Given the description of an element on the screen output the (x, y) to click on. 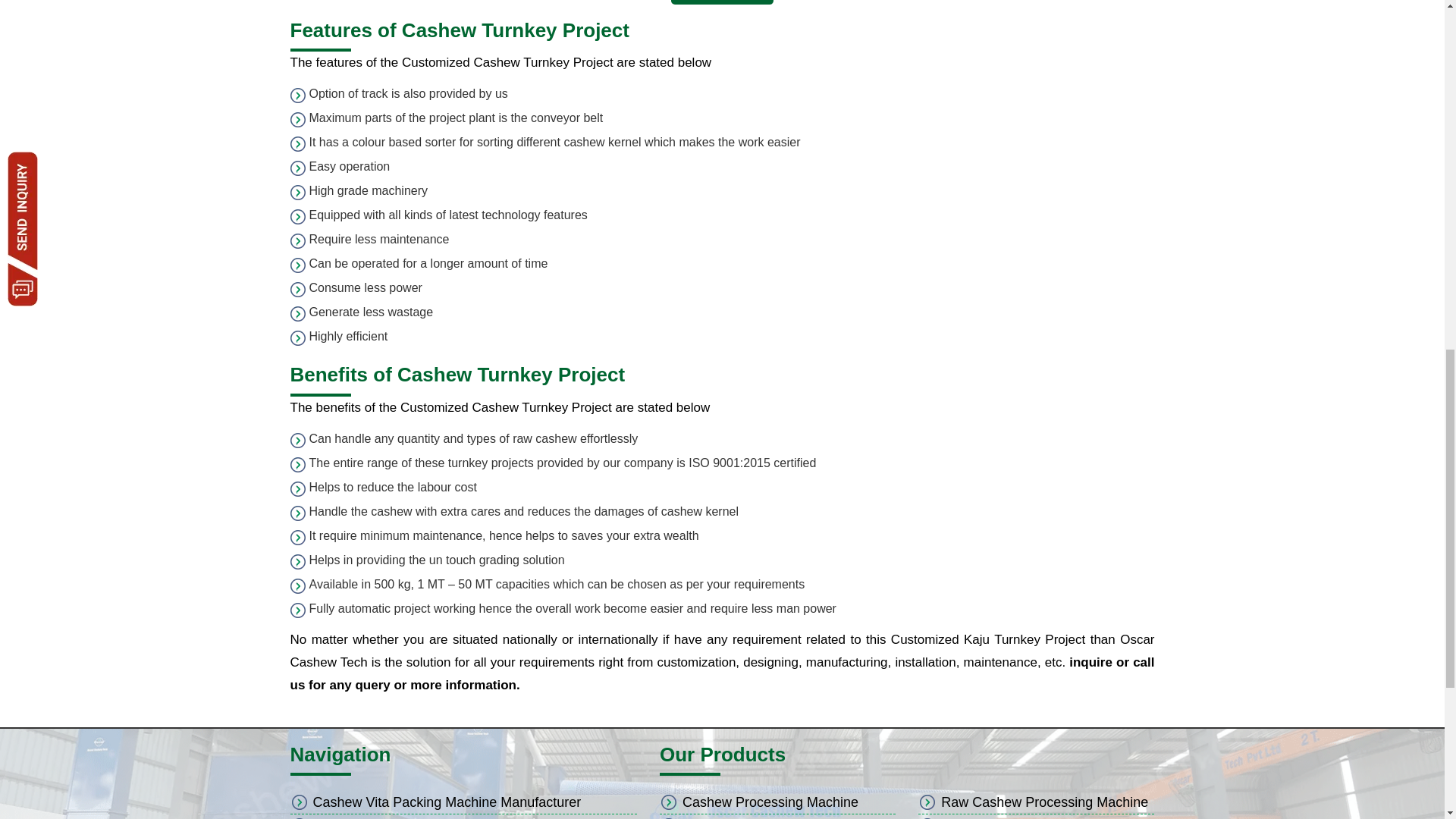
Get Best Quote (722, 2)
Raw Cashew Processing Machine (1044, 801)
Cashew Processing Machine (770, 801)
